Given the description of an element on the screen output the (x, y) to click on. 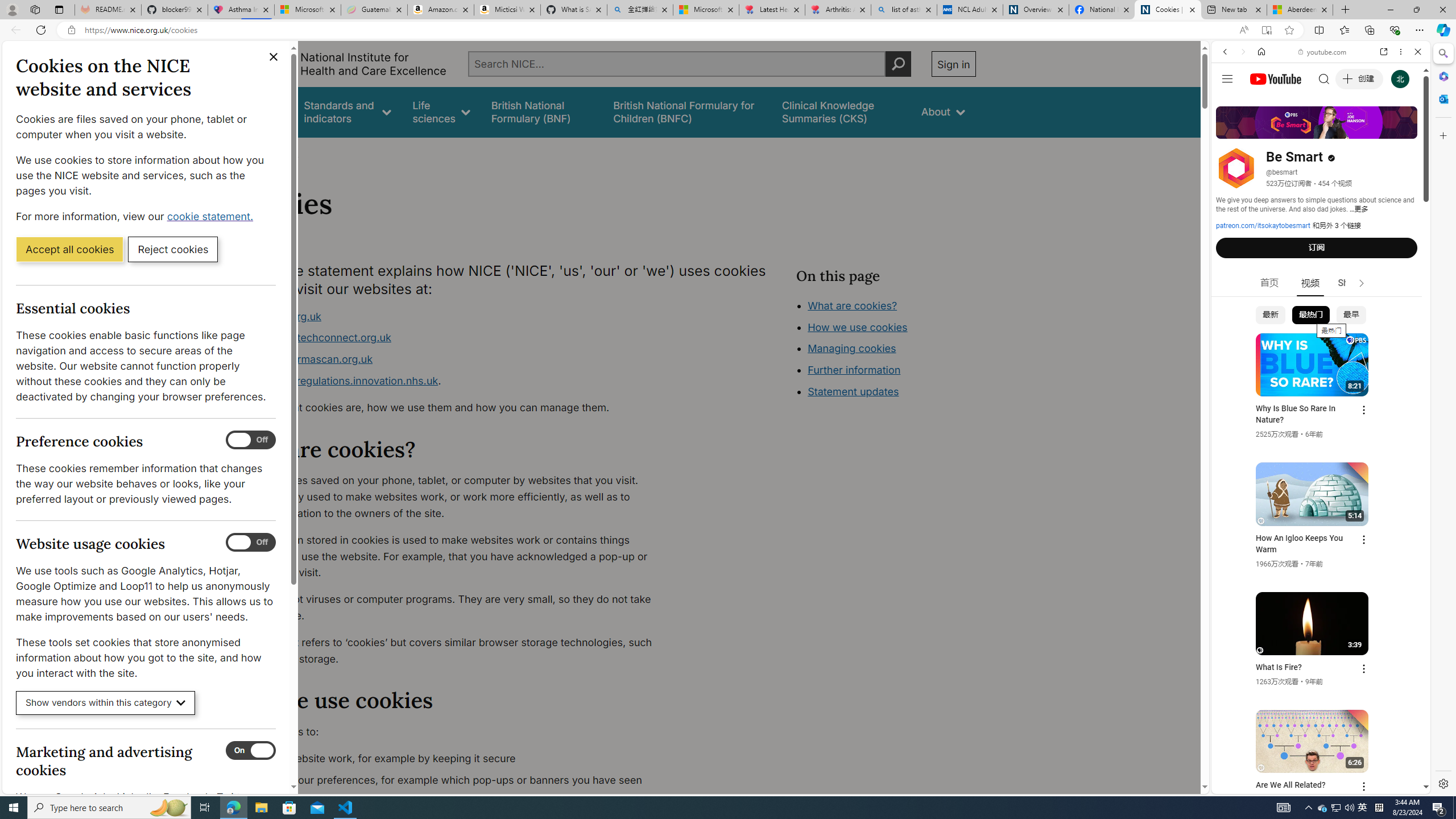
WEB   (1230, 130)
www.digitalregulations.innovation.nhs.uk. (452, 380)
